Given the description of an element on the screen output the (x, y) to click on. 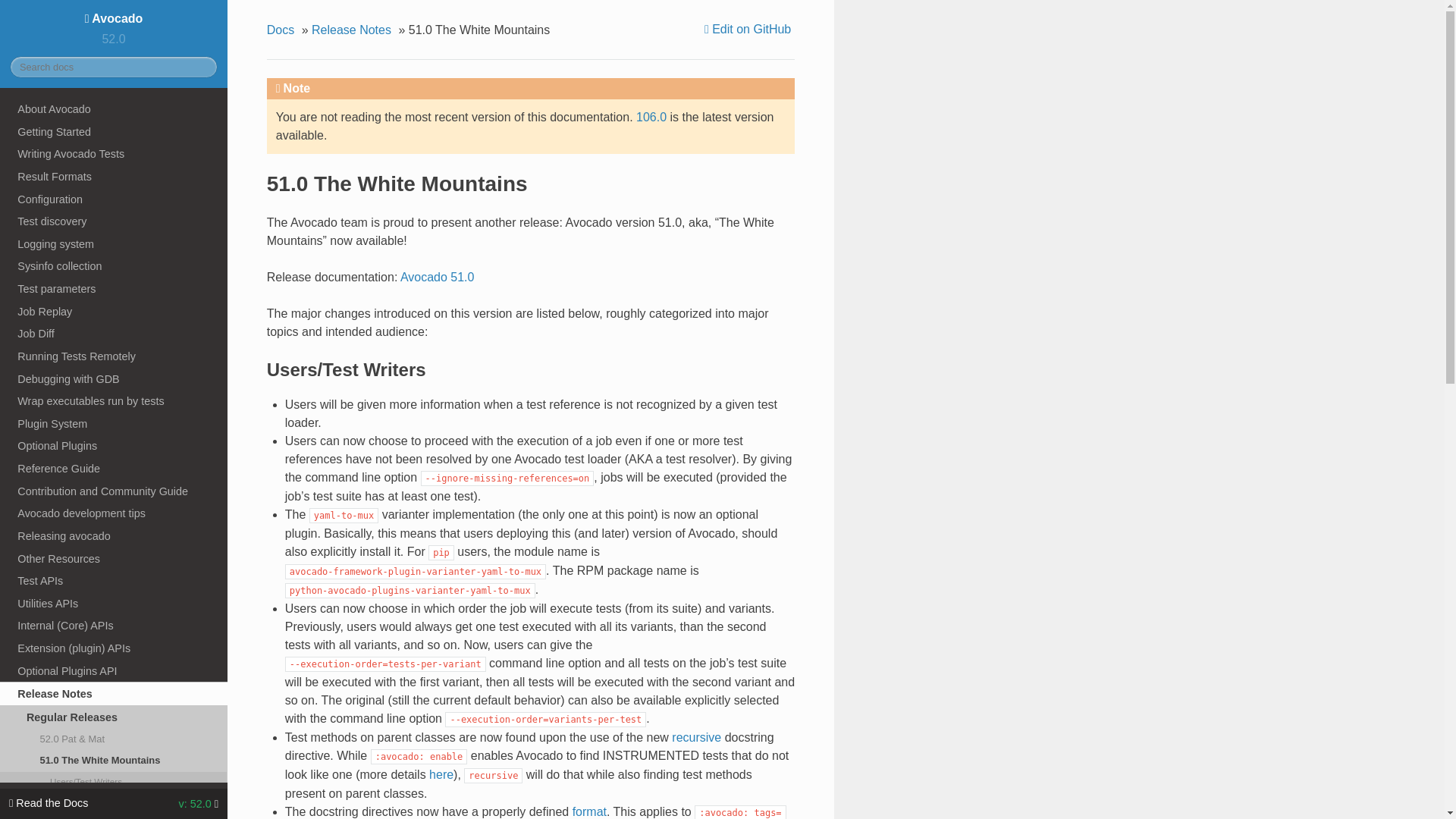
Test parameters (113, 288)
Reference Guide (113, 468)
Result Formats (113, 176)
Sysinfo collection (113, 266)
Plugin System (113, 423)
Releasing avocado (113, 535)
Logging system (113, 243)
Writing Avocado Tests (113, 153)
Optional Plugins API (113, 671)
Configuration (113, 199)
